Given the description of an element on the screen output the (x, y) to click on. 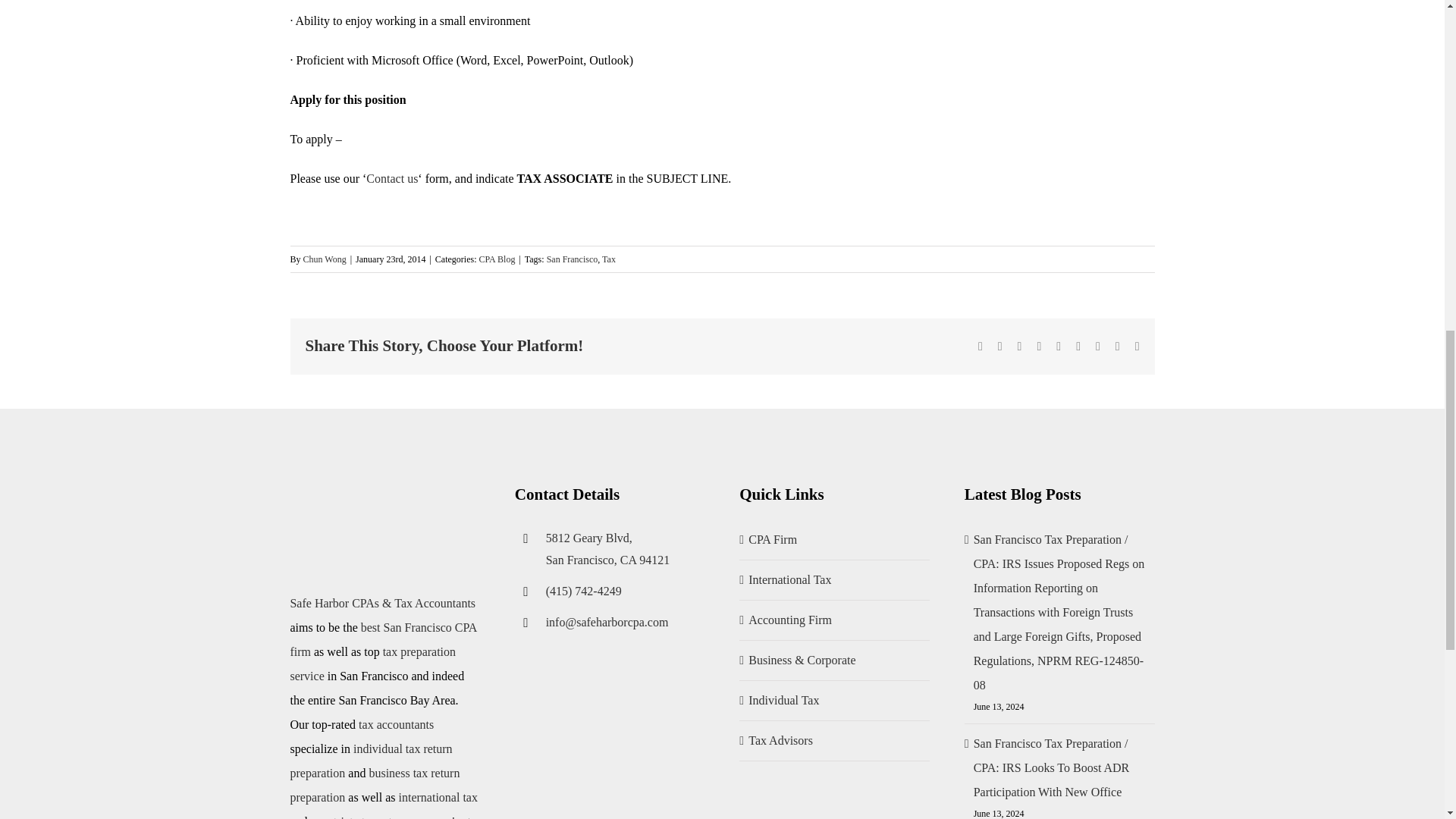
Posts by Chun Wong (324, 258)
